Given the description of an element on the screen output the (x, y) to click on. 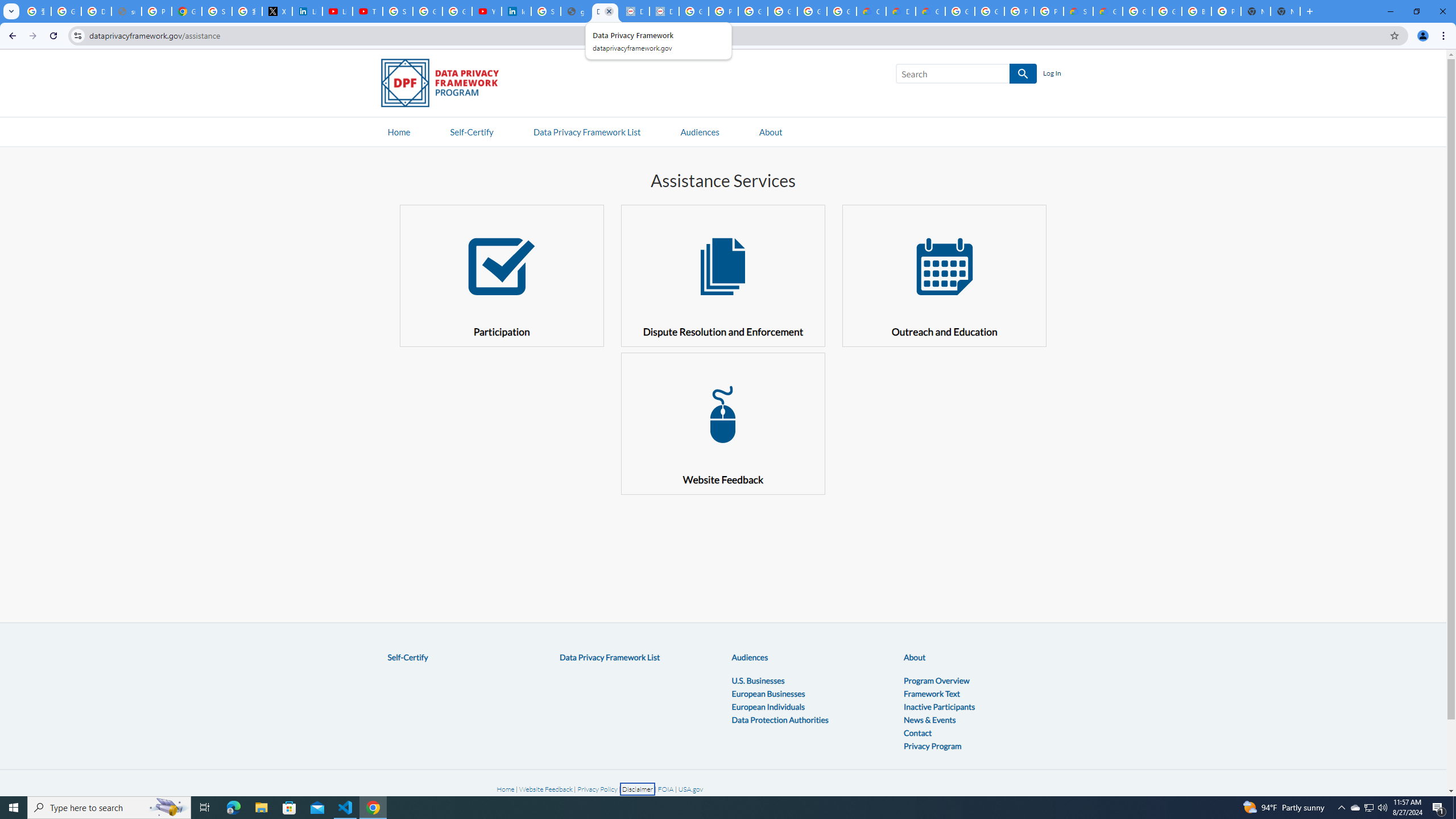
To get missing image descriptions, open the context menu. (722, 414)
Data Privacy Framework (604, 11)
X (277, 11)
Self-Certify (407, 657)
google_privacy_policy_en.pdf (575, 11)
European Individuals (767, 706)
Audiences (749, 657)
Customer Care | Google Cloud (871, 11)
LinkedIn Privacy Policy (306, 11)
Disclaimer (637, 788)
About (915, 657)
Program Overview (936, 679)
Support Hub | Google Cloud (1077, 11)
Data Privacy Framework Logo - Link to Homepage (445, 85)
